Given the description of an element on the screen output the (x, y) to click on. 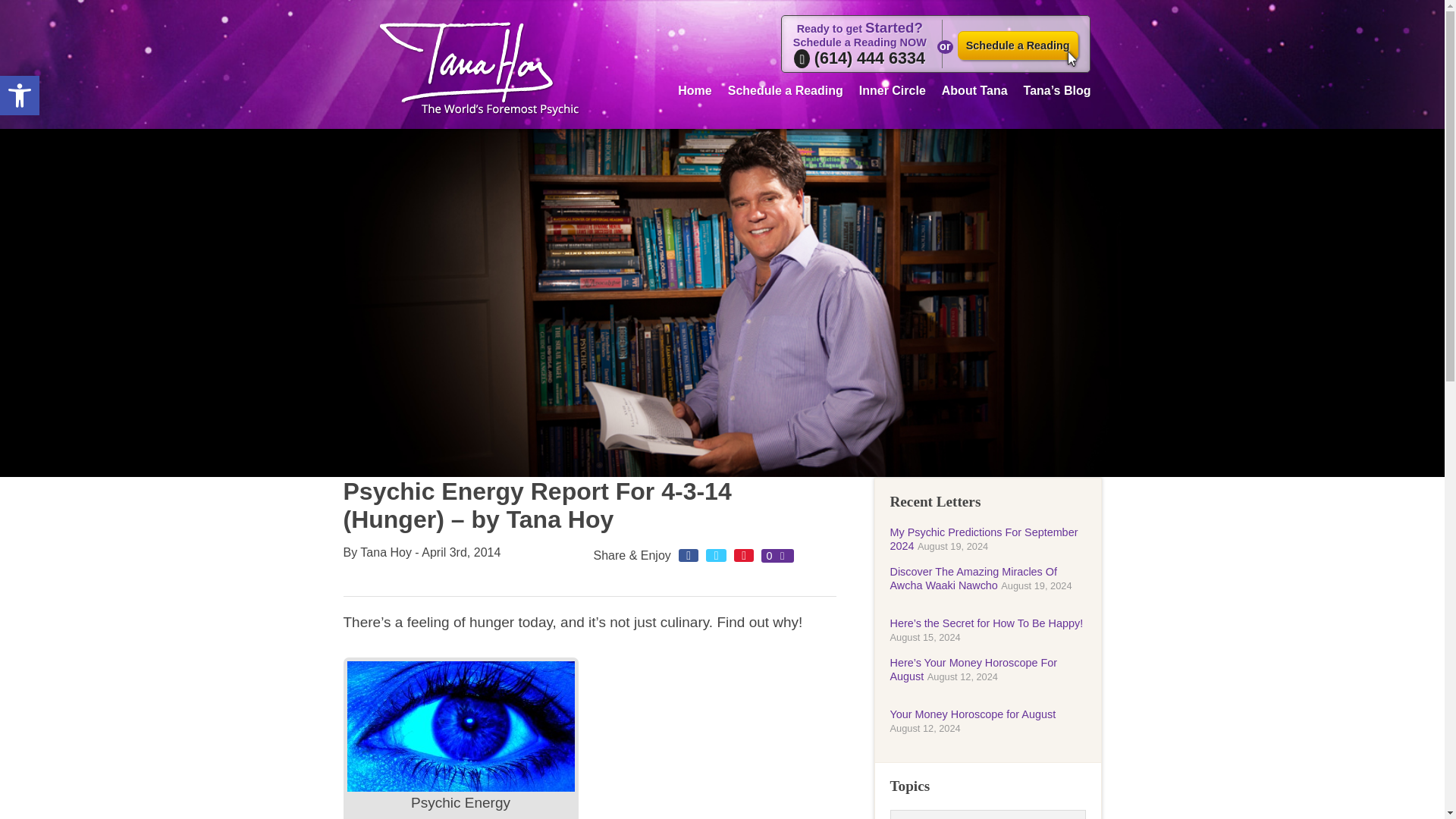
Your Money Horoscope for August (973, 714)
Inner Circle (19, 95)
Schedule a Reading (892, 87)
Accessibility Tools (1018, 45)
Home (19, 95)
Discover The Amazing Miracles Of Awcha Waaki Nawcho (694, 87)
0 (973, 578)
My Psychic Predictions For September 2024 (777, 555)
About Tana (983, 539)
